Given the description of an element on the screen output the (x, y) to click on. 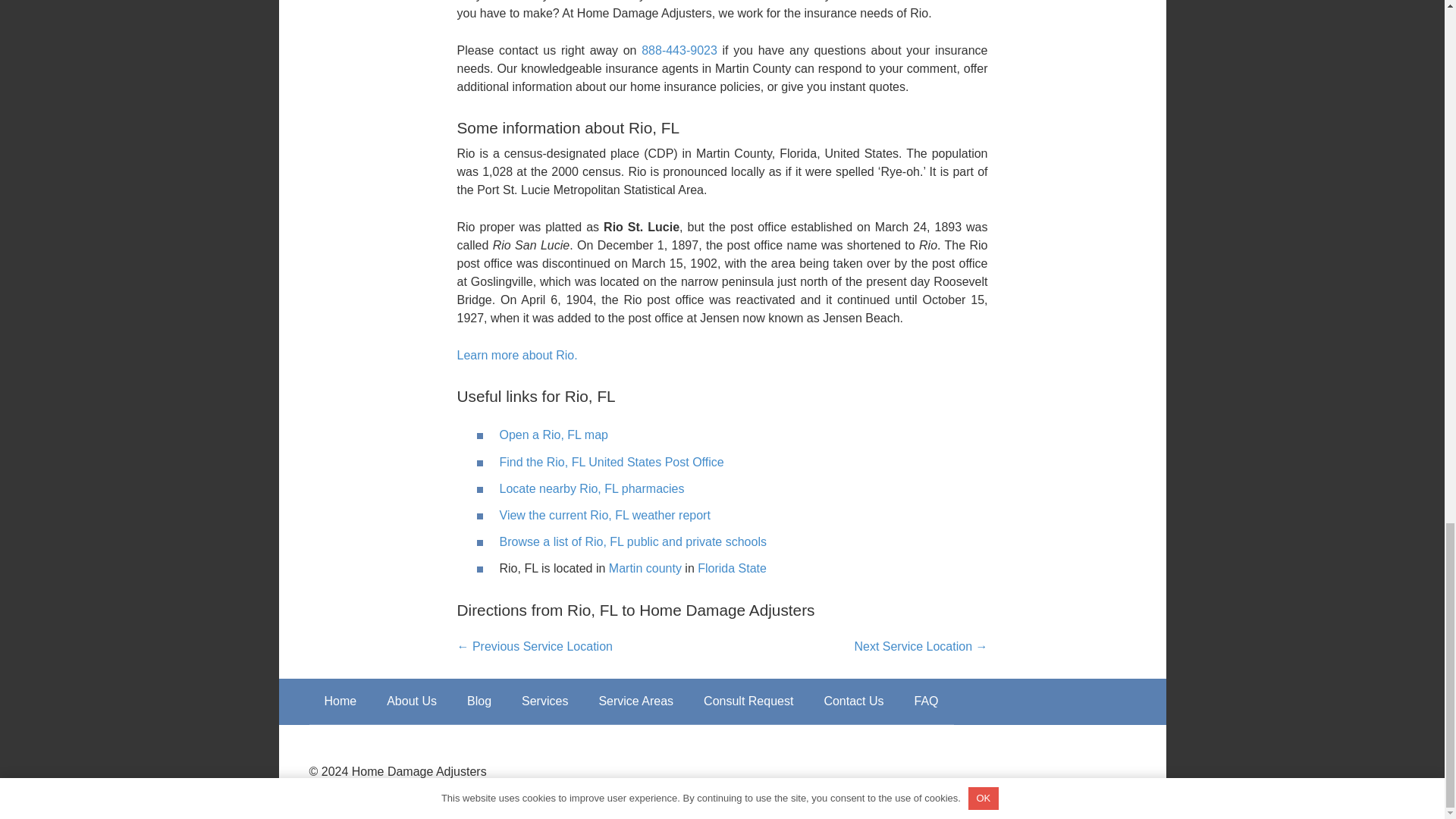
FAQ (926, 700)
Locate nearby Rio, FL pharmacies (591, 488)
Find the Rio, FL United States Post Office (611, 461)
About Us (411, 700)
888-443-9023 (679, 50)
Services (544, 700)
Florida State (732, 567)
Open a Rio, FL map (553, 434)
Contact Us (853, 700)
Martin county (644, 567)
